Given the description of an element on the screen output the (x, y) to click on. 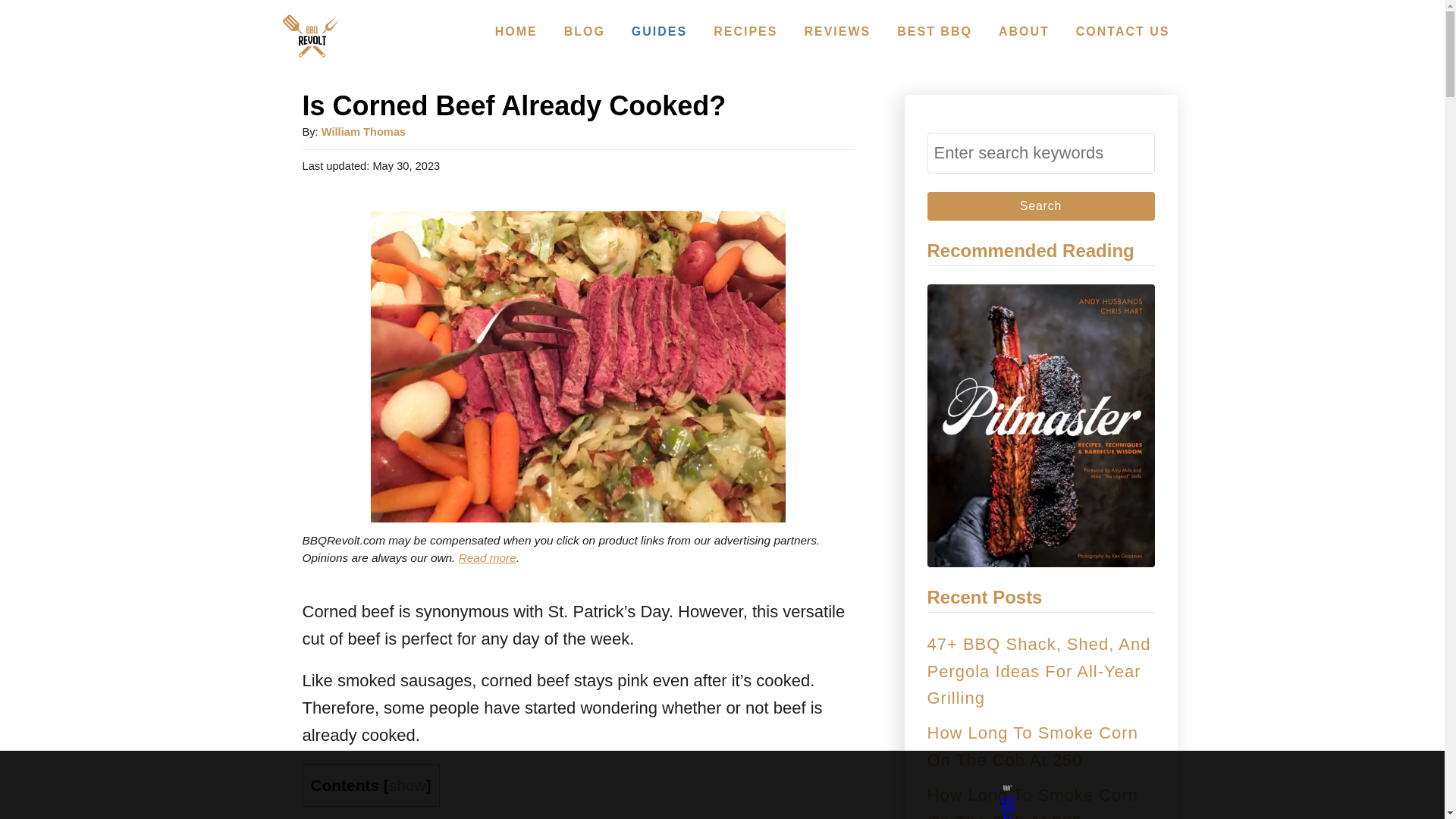
show (407, 784)
Search (1040, 205)
3rd party ad content (708, 785)
Search for: (1040, 152)
Search (1040, 205)
Read more (487, 557)
RECIPES (745, 31)
BLOG (584, 31)
BBQ Revolt (310, 35)
ABOUT (1024, 31)
BEST BBQ (934, 31)
William Thomas (363, 132)
CONTACT US (1122, 31)
REVIEWS (836, 31)
HOME (515, 31)
